Given the description of an element on the screen output the (x, y) to click on. 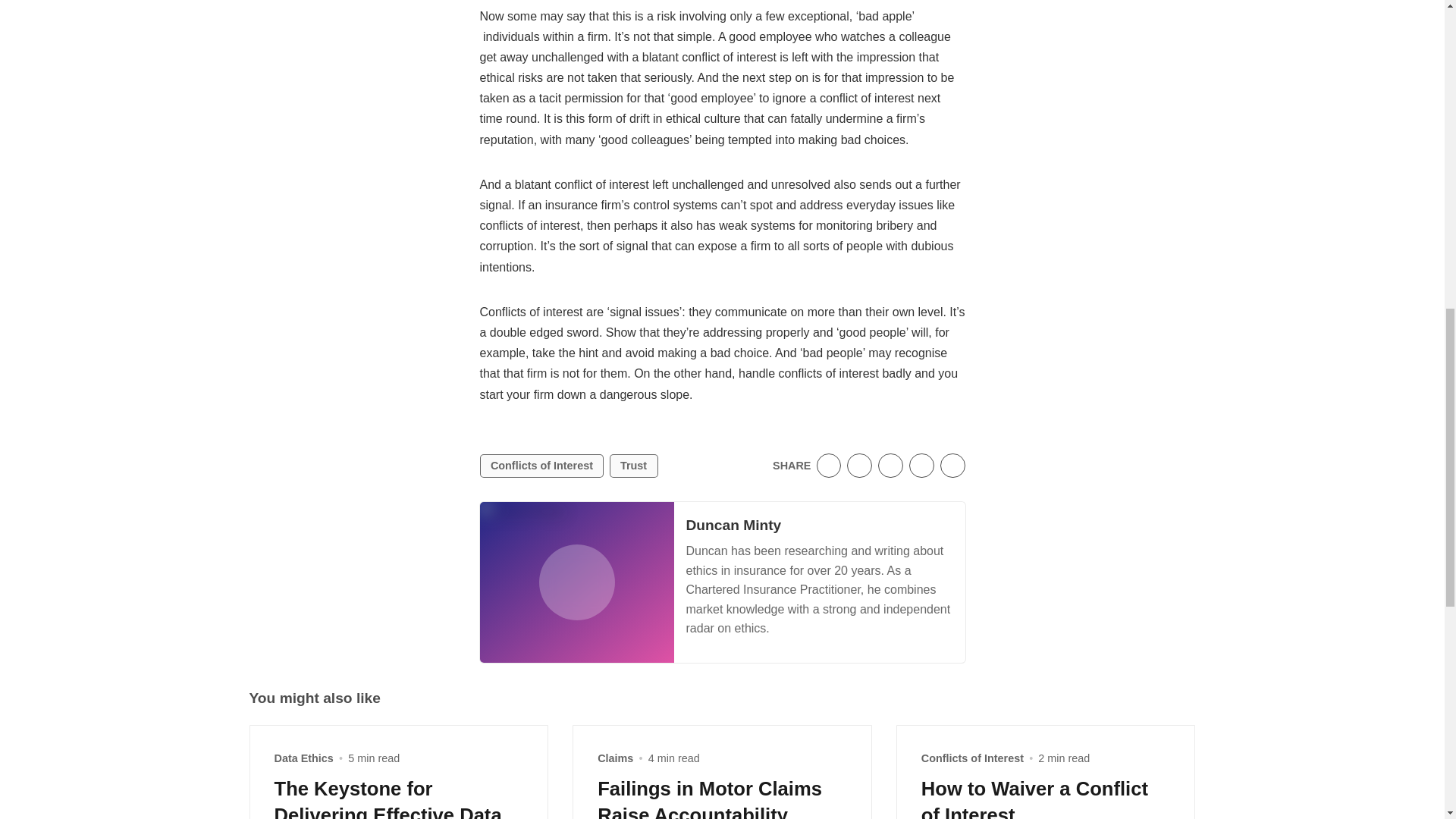
Conflicts of Interest (541, 466)
Share on Facebook (859, 465)
Share by email (921, 465)
Share on Linkedin (889, 465)
Share on Twitter (828, 465)
Copy to clipboard (952, 465)
